Given the description of an element on the screen output the (x, y) to click on. 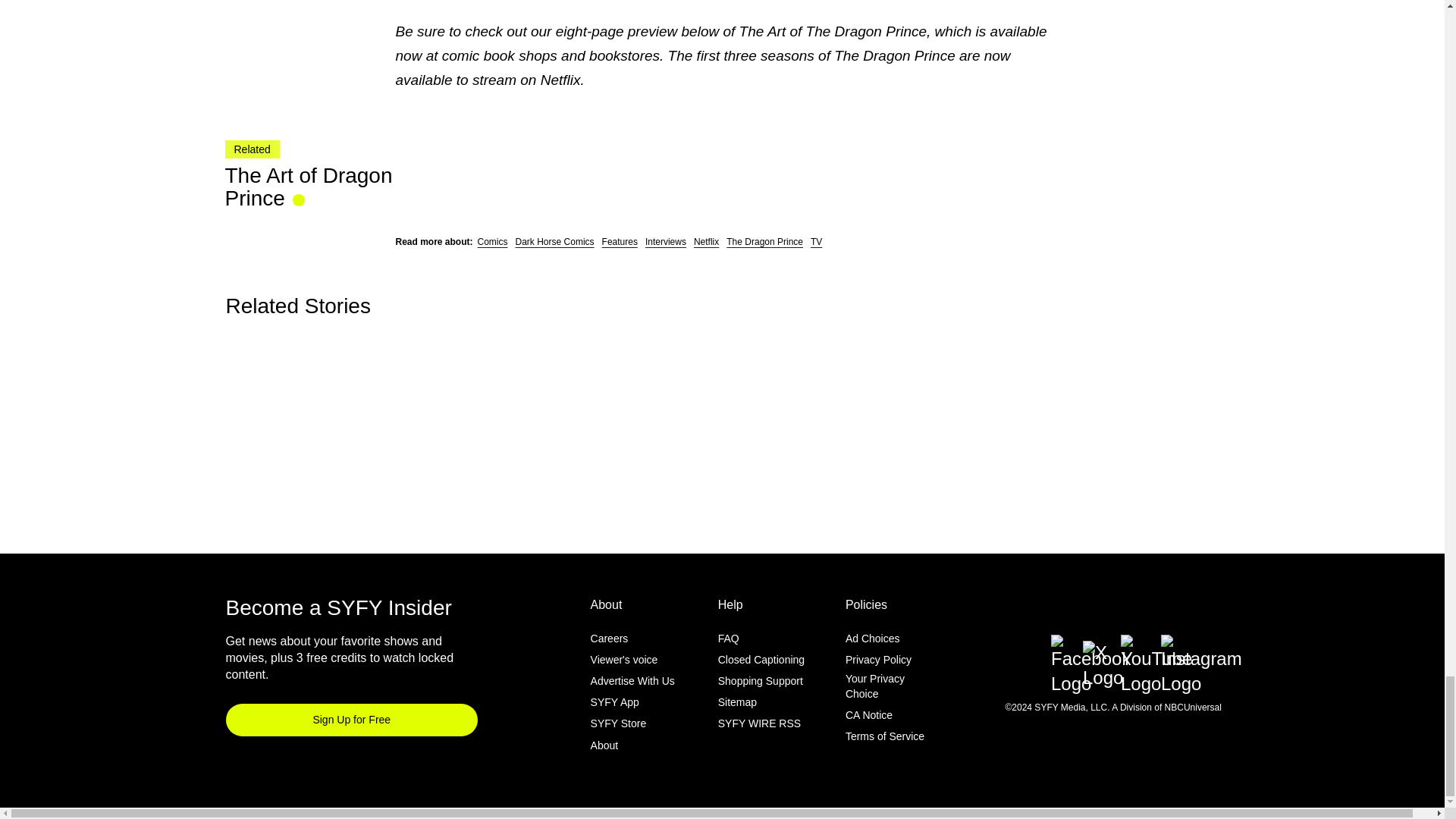
Features (619, 241)
Comics (492, 241)
Dark Horse Comics (554, 241)
Advertise With Us (633, 680)
